Given the description of an element on the screen output the (x, y) to click on. 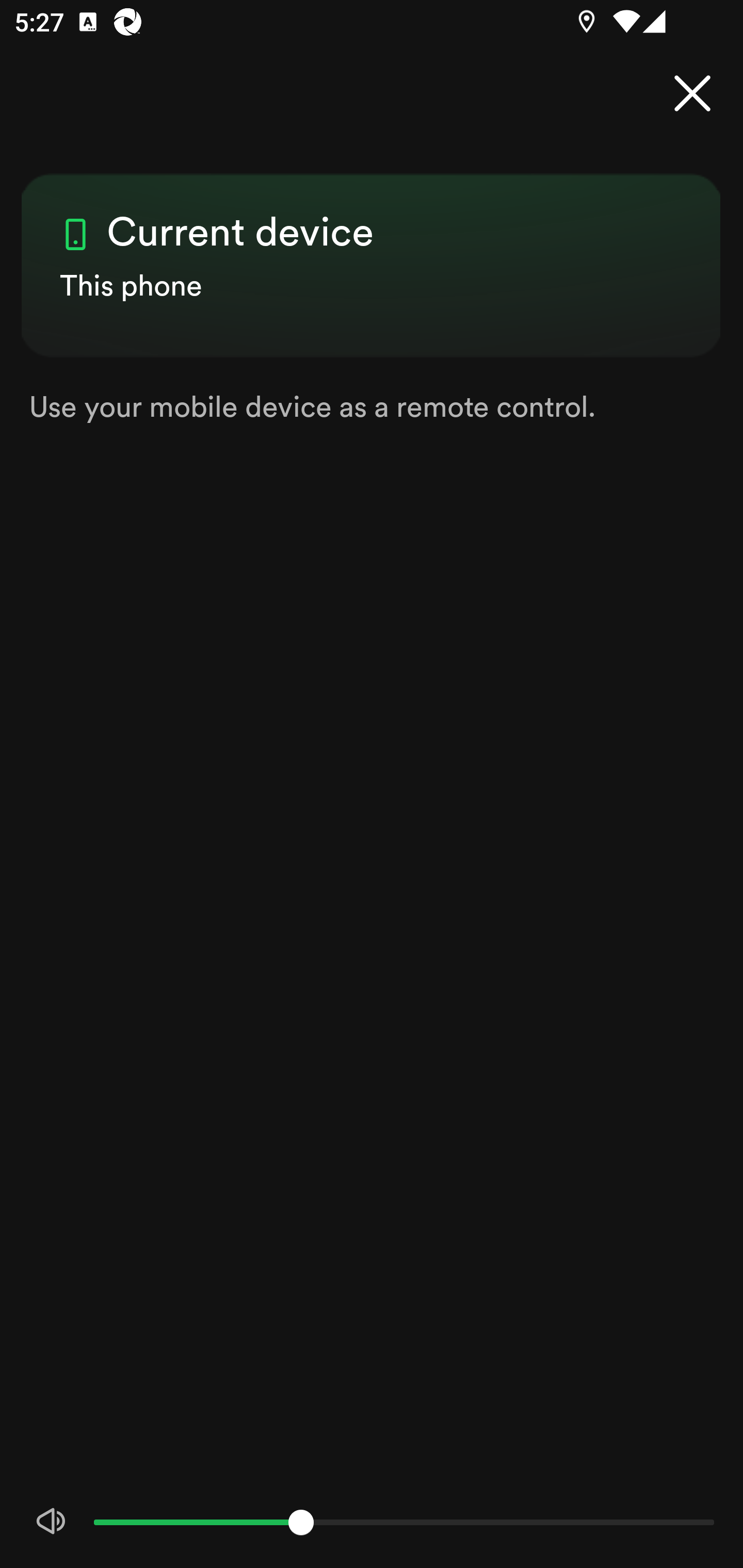
Close (692, 93)
Current device This phone (371, 247)
